Given the description of an element on the screen output the (x, y) to click on. 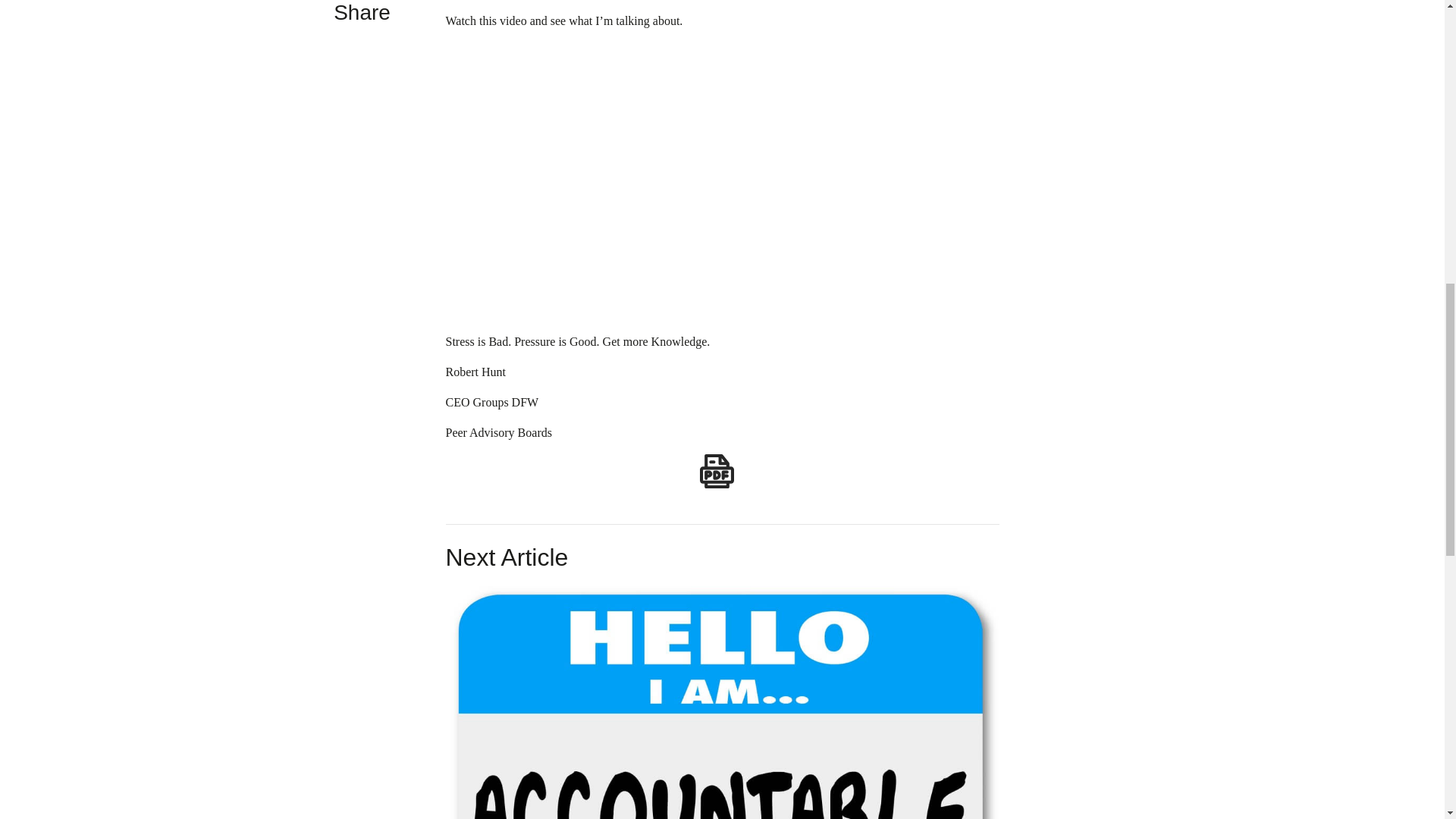
The difference between stress vs pressure. (688, 178)
